Given the description of an element on the screen output the (x, y) to click on. 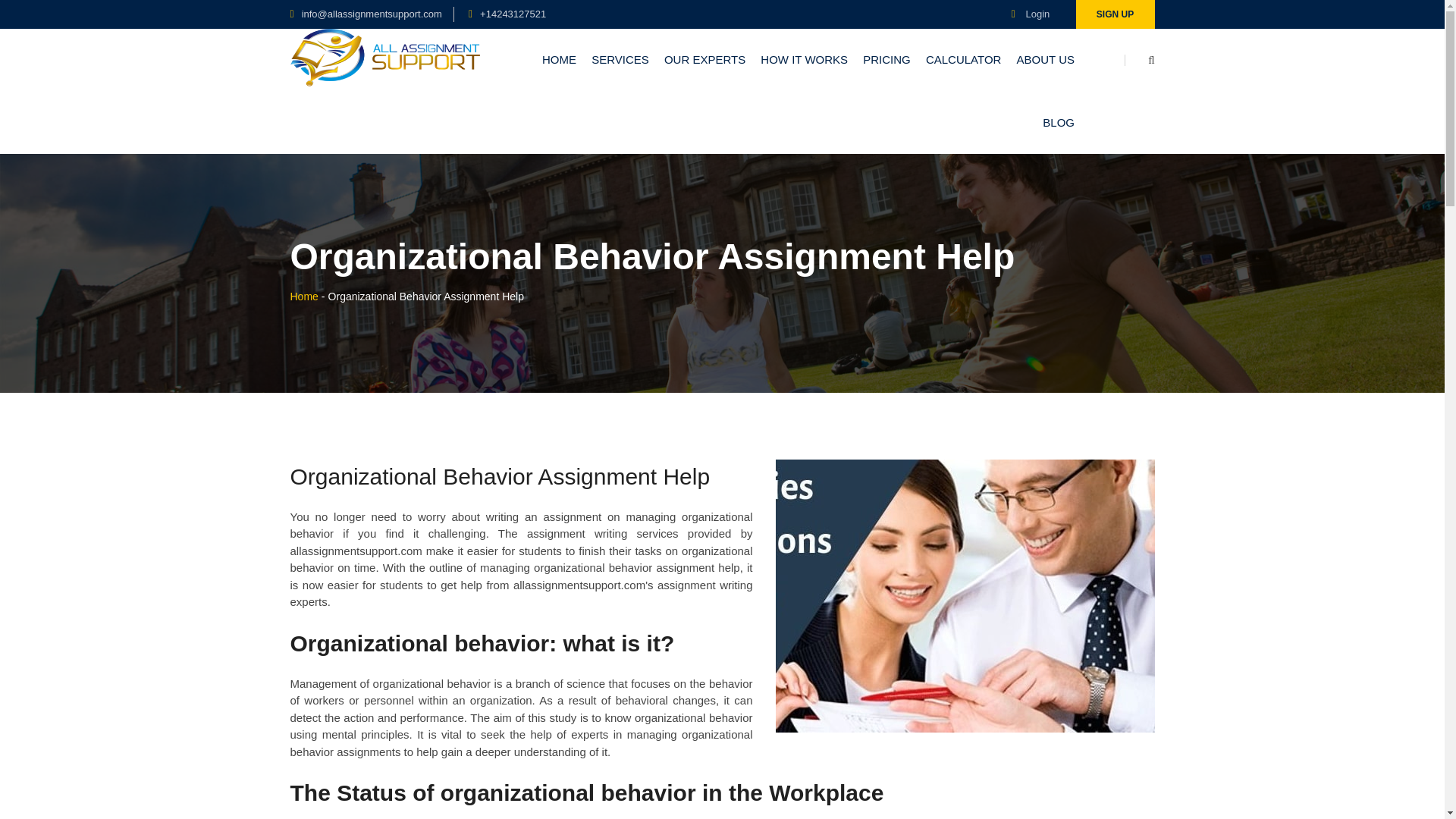
SERVICES (620, 59)
Login (1030, 14)
SIGN UP (1114, 14)
